Given the description of an element on the screen output the (x, y) to click on. 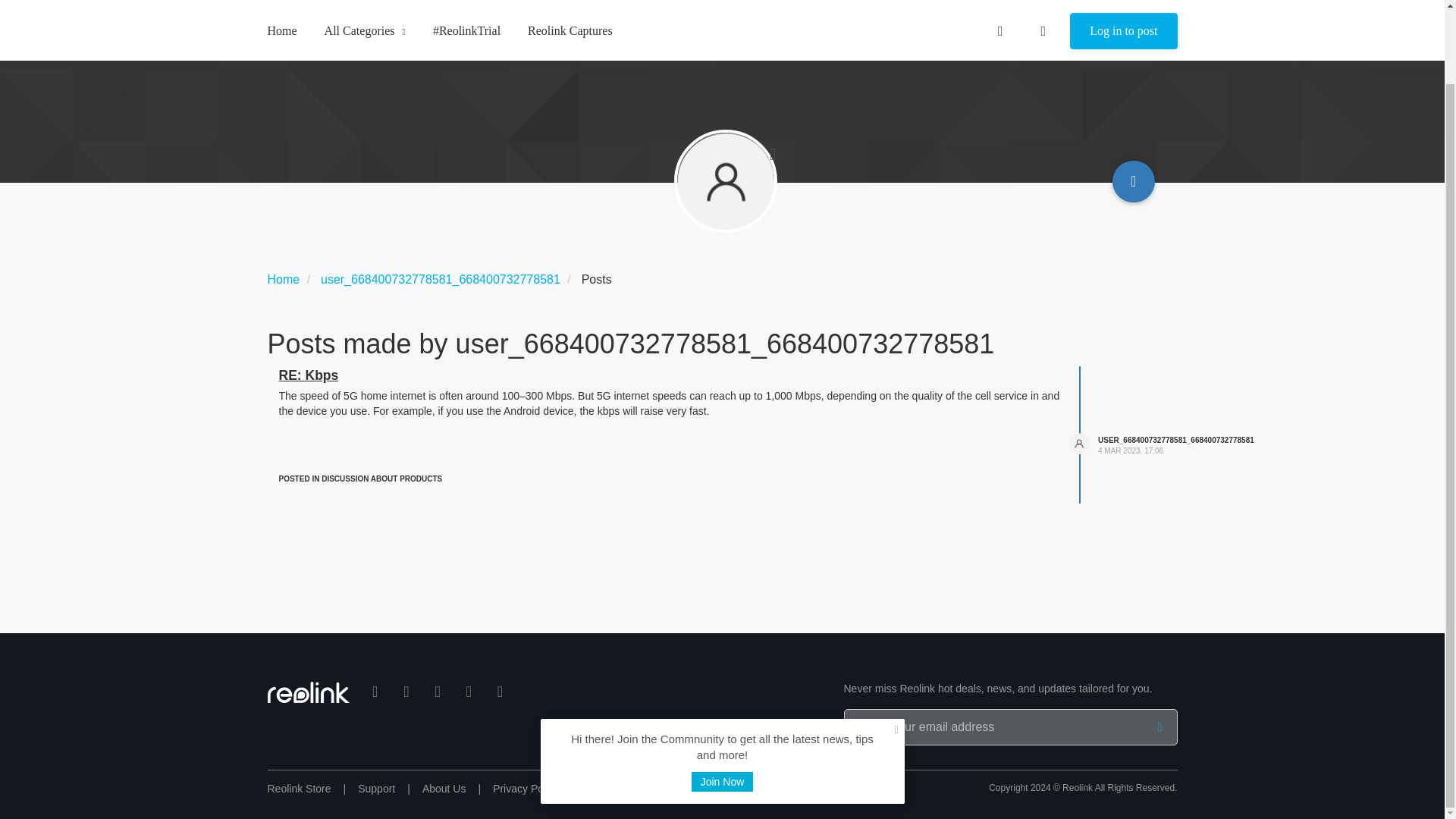
Home (282, 278)
POSTED IN DISCUSSION ABOUT PRODUCTS (360, 479)
4 Mar 2023, 17:06 (1130, 450)
RE: Kbps (309, 375)
Log in to post (1123, 5)
